Given the description of an element on the screen output the (x, y) to click on. 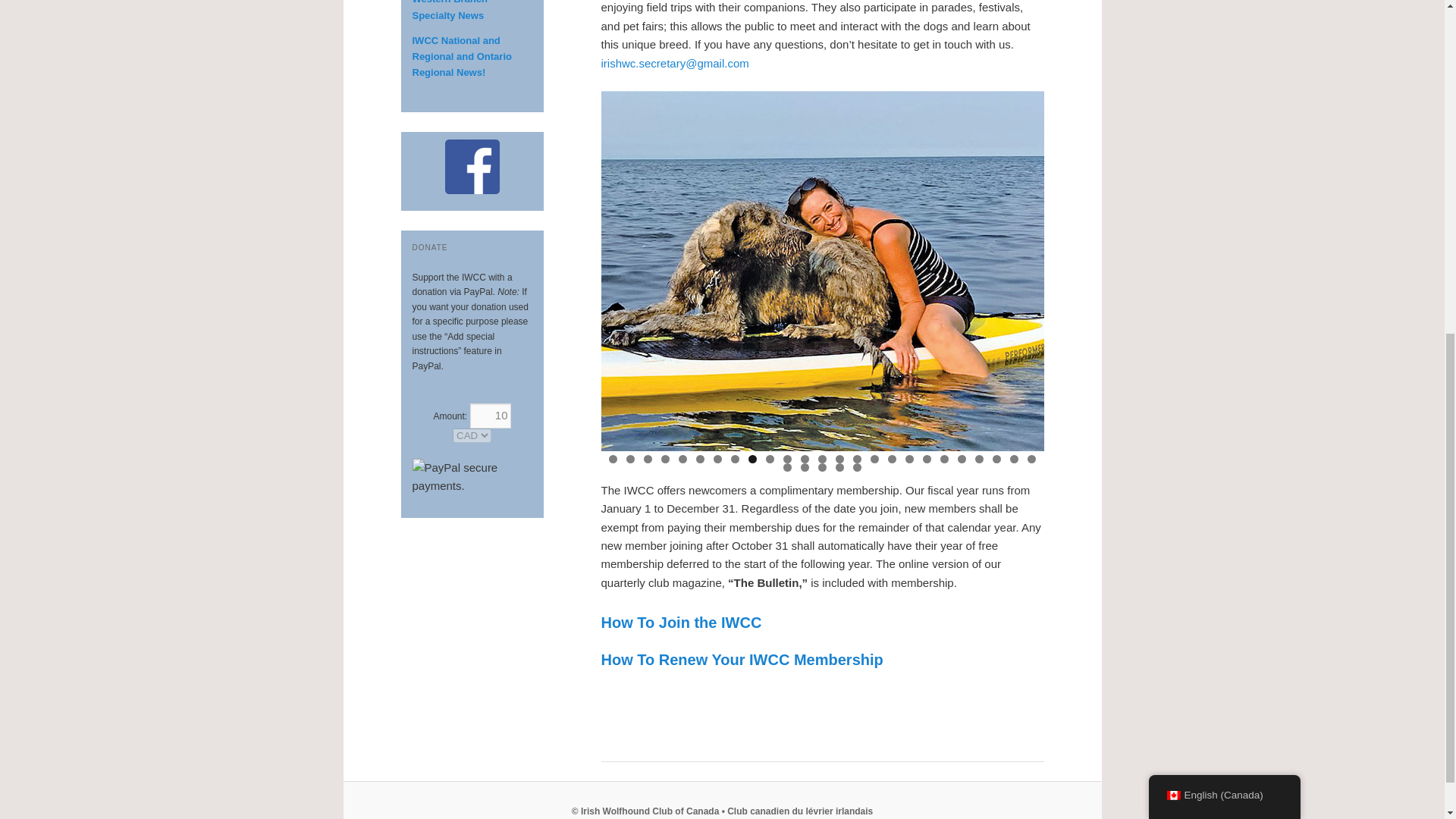
10 (490, 415)
